Given the description of an element on the screen output the (x, y) to click on. 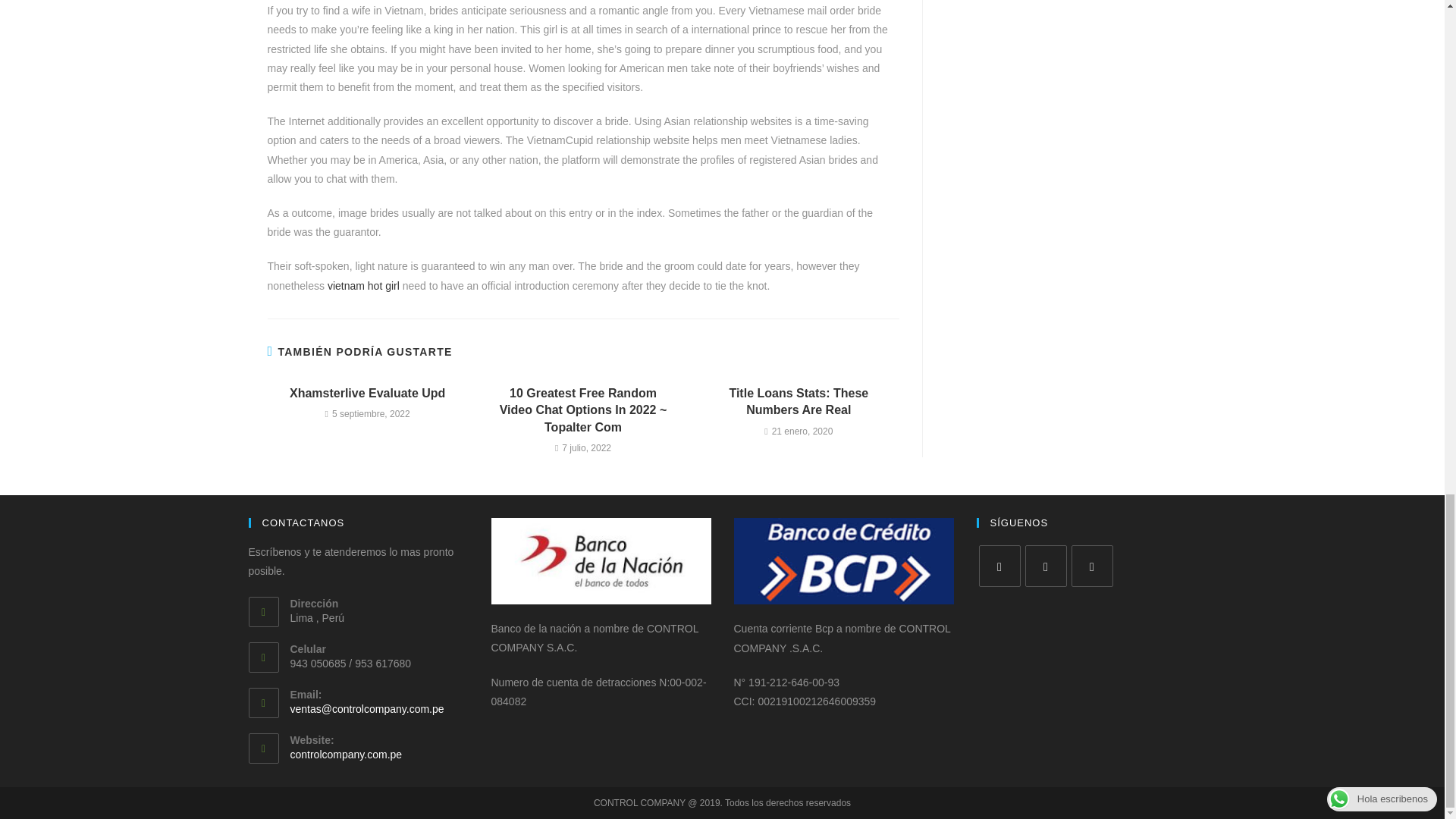
Xhamsterlive Evaluate Upd (367, 393)
Youtube (1091, 566)
Title Loans Stats: These Numbers Are Real (798, 401)
Title Loans Stats: These Numbers Are Real (798, 401)
Xhamsterlive Evaluate Upd (367, 393)
vietnam hot girl (362, 285)
Facebook (999, 566)
Instagram (1046, 566)
controlcompany.com.pe (345, 754)
